Given the description of an element on the screen output the (x, y) to click on. 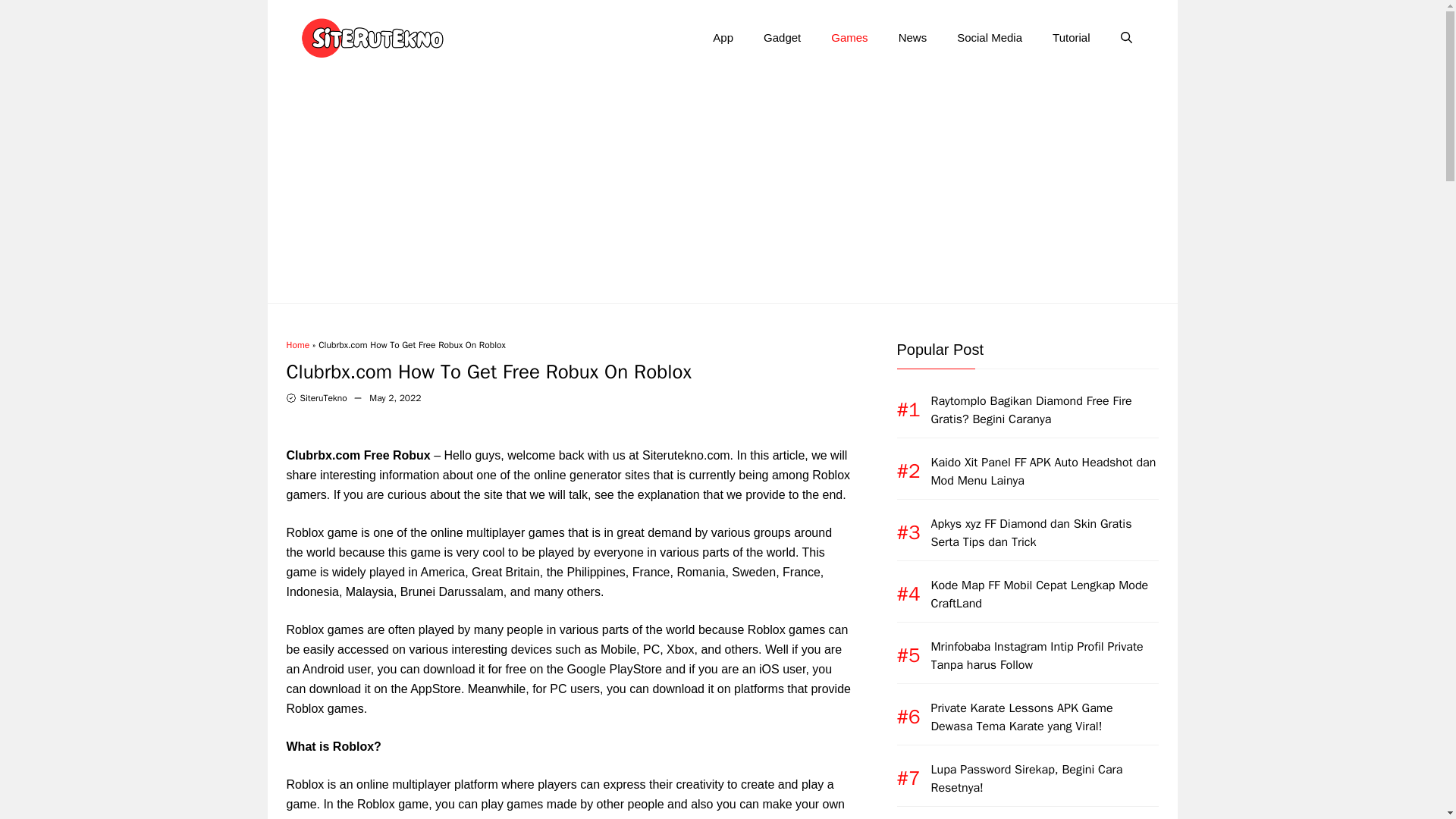
Home (298, 345)
SiteruTekno (323, 398)
News (912, 37)
Gadget (781, 37)
Games (848, 37)
Tutorial (1070, 37)
Social Media (989, 37)
App (722, 37)
